Given the description of an element on the screen output the (x, y) to click on. 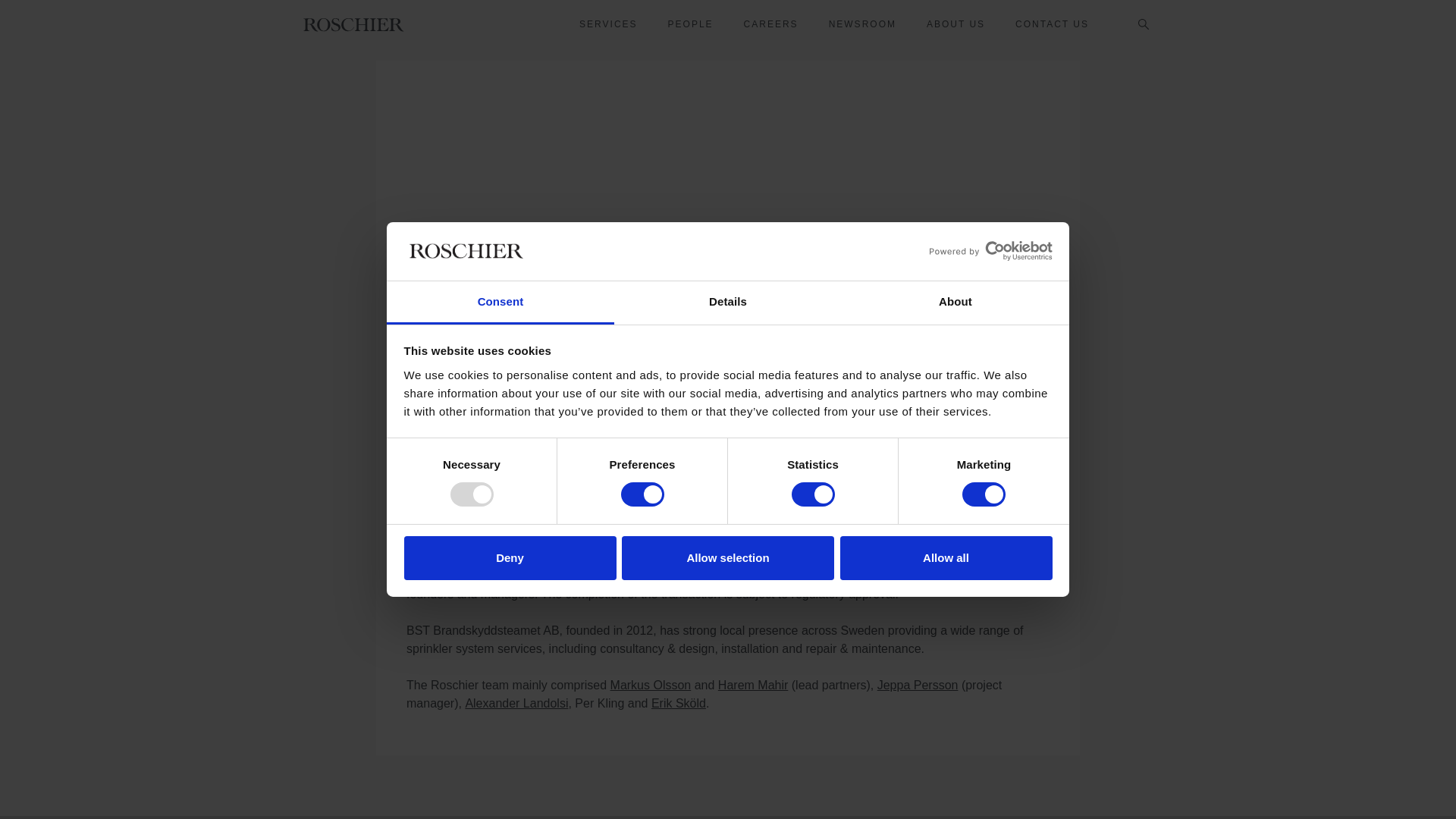
Deny (509, 557)
About (954, 302)
Allow selection (727, 557)
Details (727, 302)
SERVICES (608, 24)
Allow all (946, 557)
Consent (500, 302)
